Given the description of an element on the screen output the (x, y) to click on. 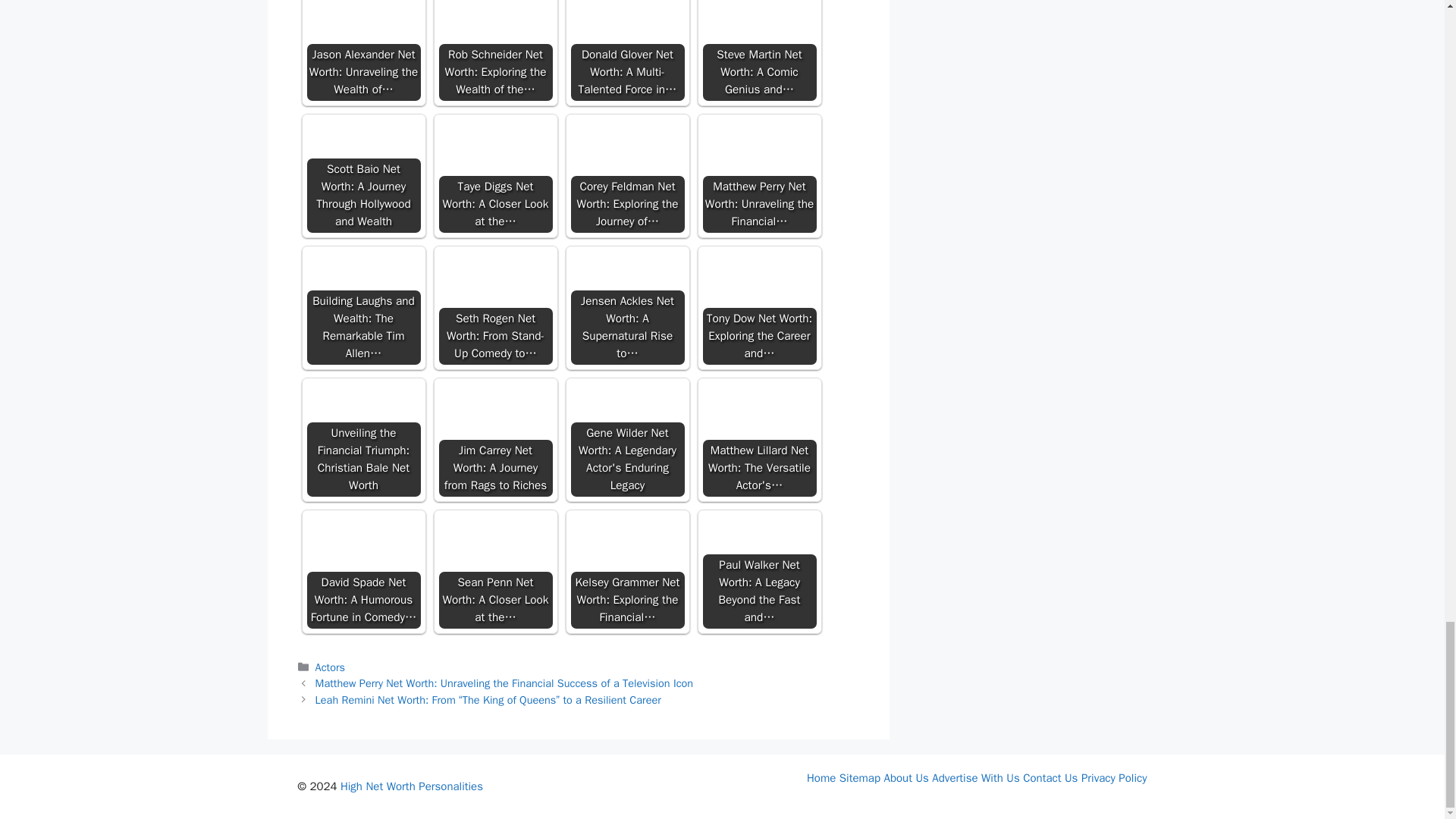
Scott Baio Net Worth: A Journey Through Hollywood and Wealth (362, 147)
